Given the description of an element on the screen output the (x, y) to click on. 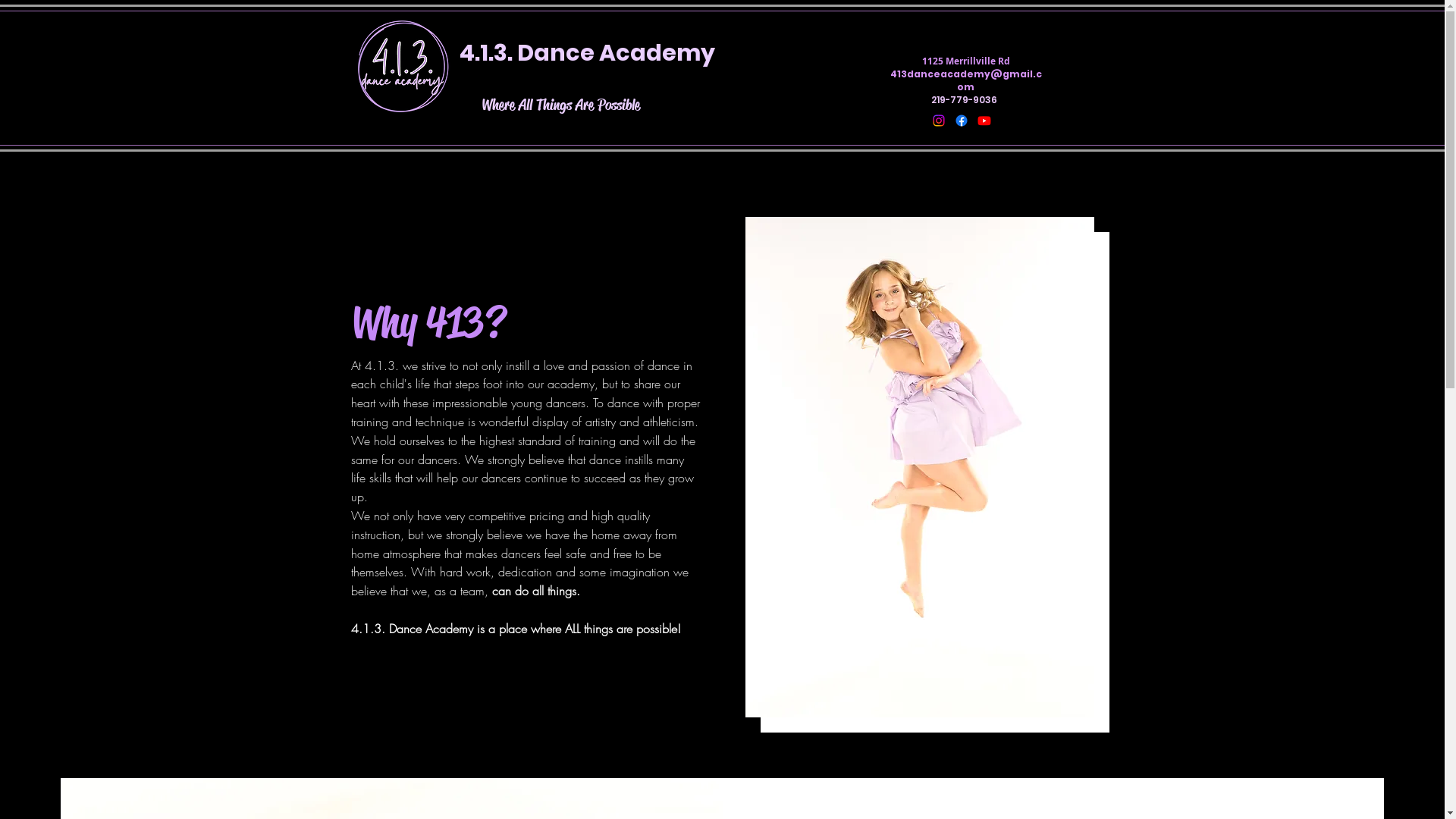
413danceacademy@gmail.com Element type: text (965, 80)
